Given the description of an element on the screen output the (x, y) to click on. 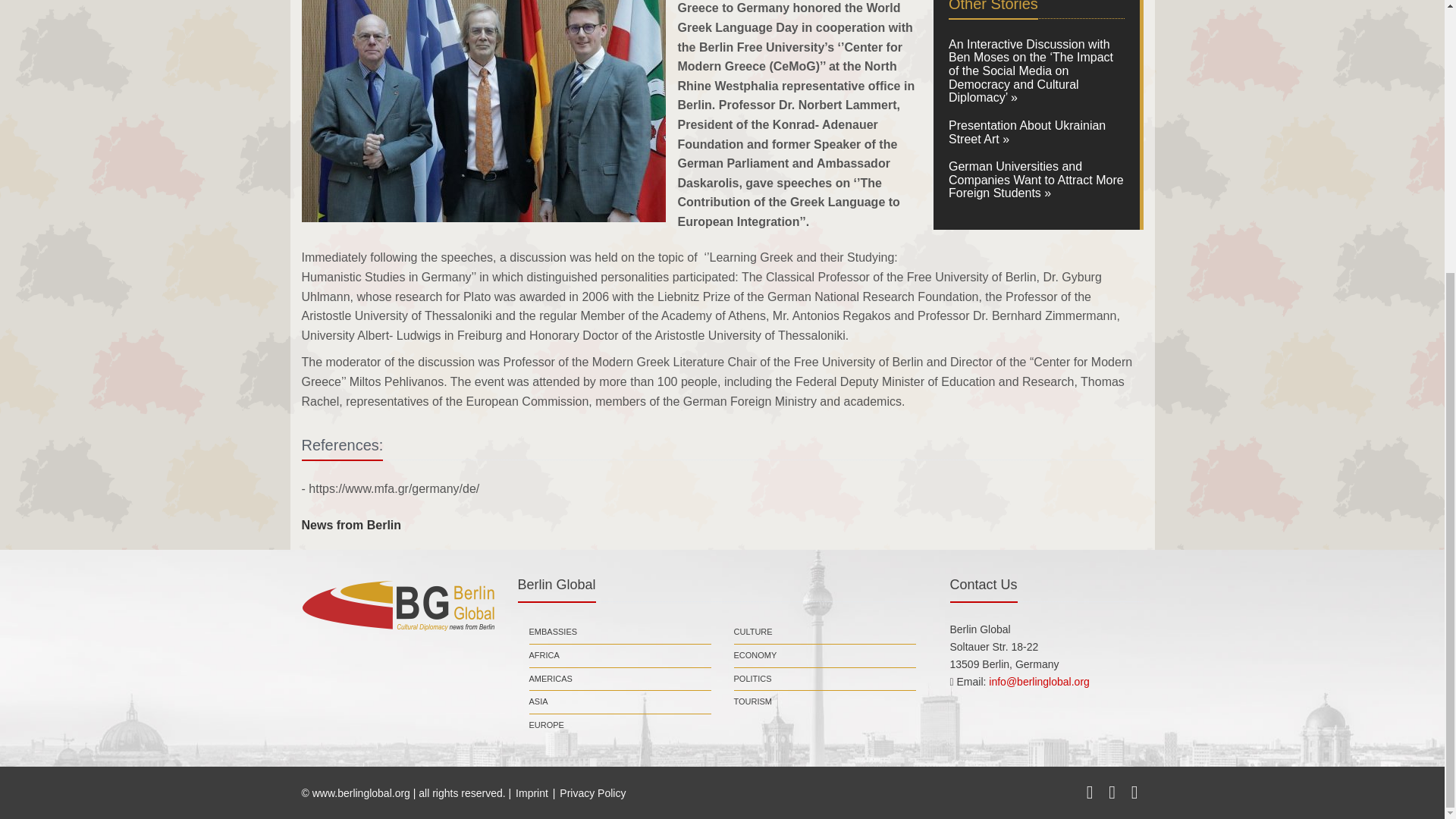
POLITICS (752, 679)
ECONOMY (755, 655)
TOURISM (753, 702)
CULTURE (753, 631)
EMBASSIES (553, 631)
AFRICA (544, 655)
AMERICAS (550, 679)
Imprint (531, 793)
EUROPE (546, 725)
Privacy Policy (592, 793)
